Given the description of an element on the screen output the (x, y) to click on. 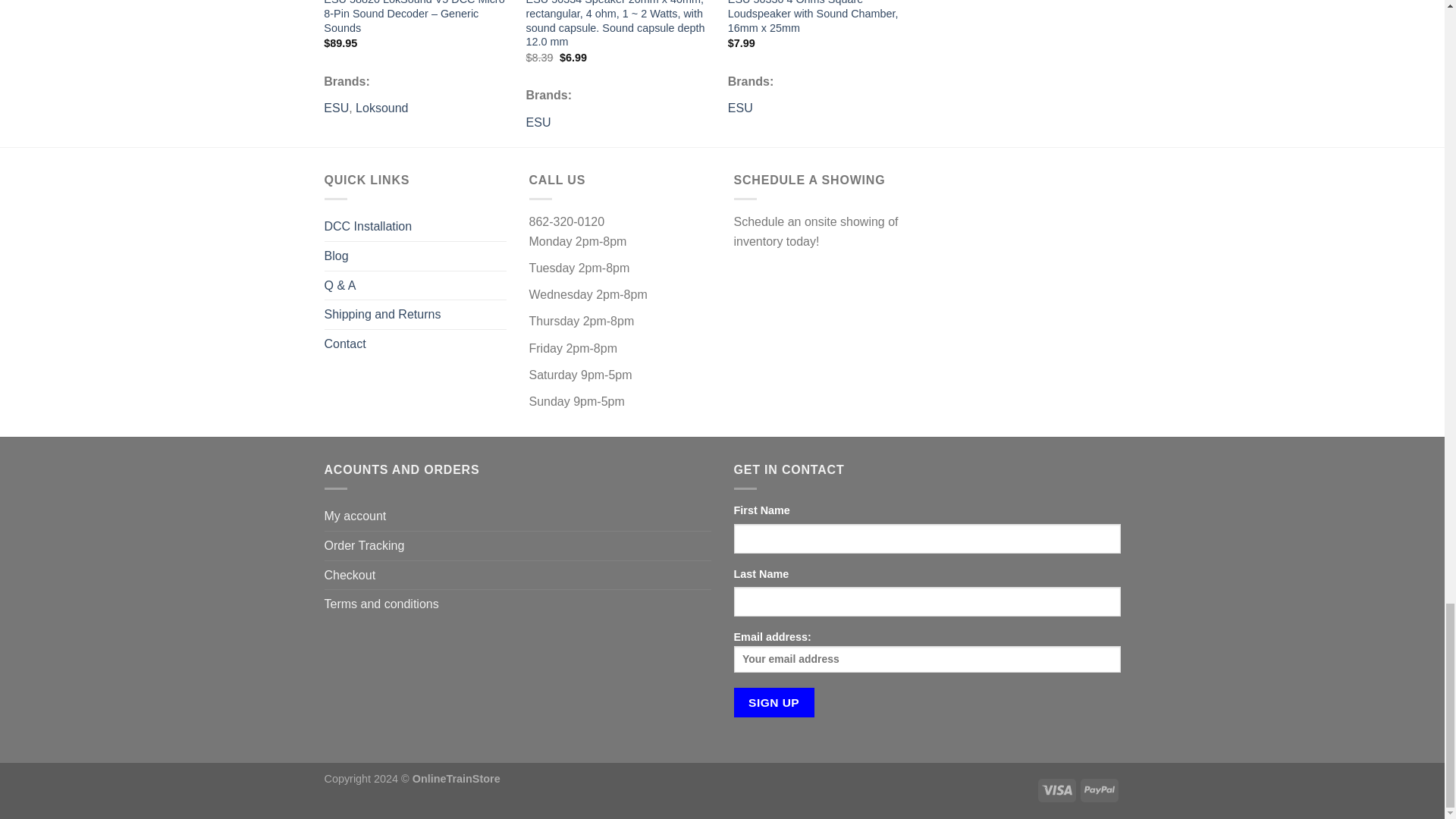
Sign up (773, 702)
